Given the description of an element on the screen output the (x, y) to click on. 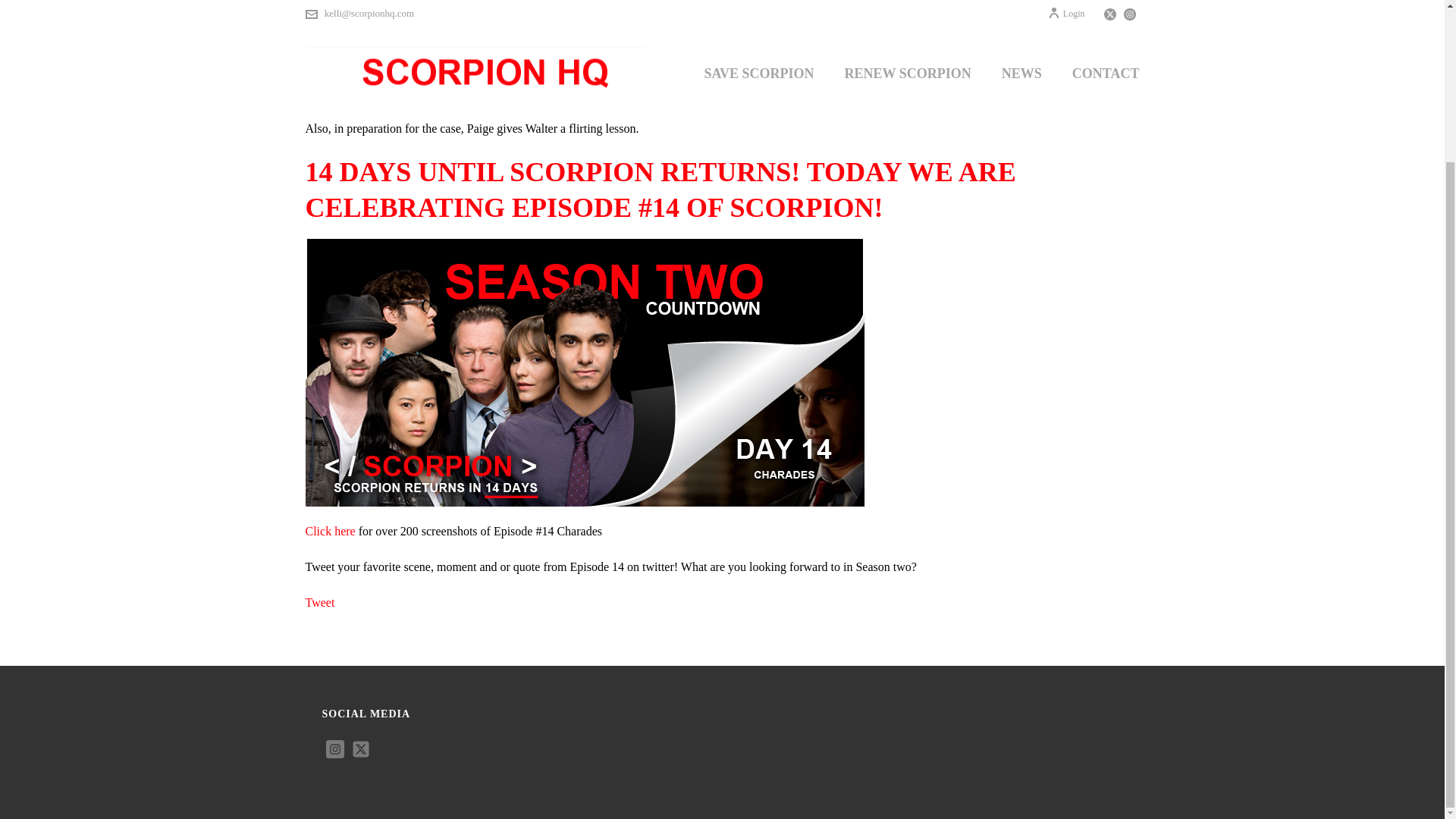
Tweet (319, 602)
 twitter (360, 750)
 instagram (334, 750)
Click here (329, 530)
SEASON TWO COUNT DOWN (1029, 1)
HOME (945, 1)
